Given the description of an element on the screen output the (x, y) to click on. 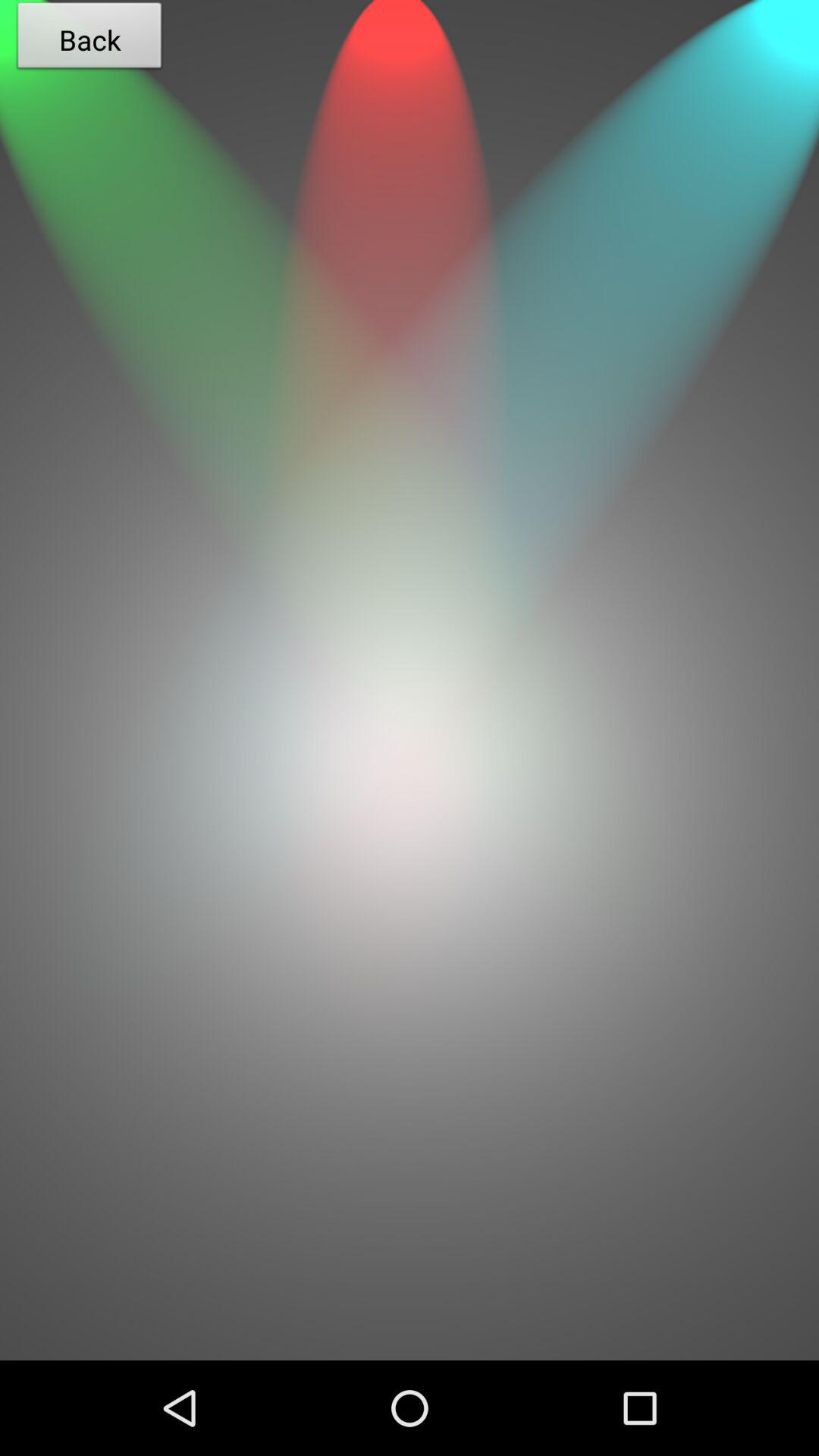
wallpaper display (409, 1111)
